Given the description of an element on the screen output the (x, y) to click on. 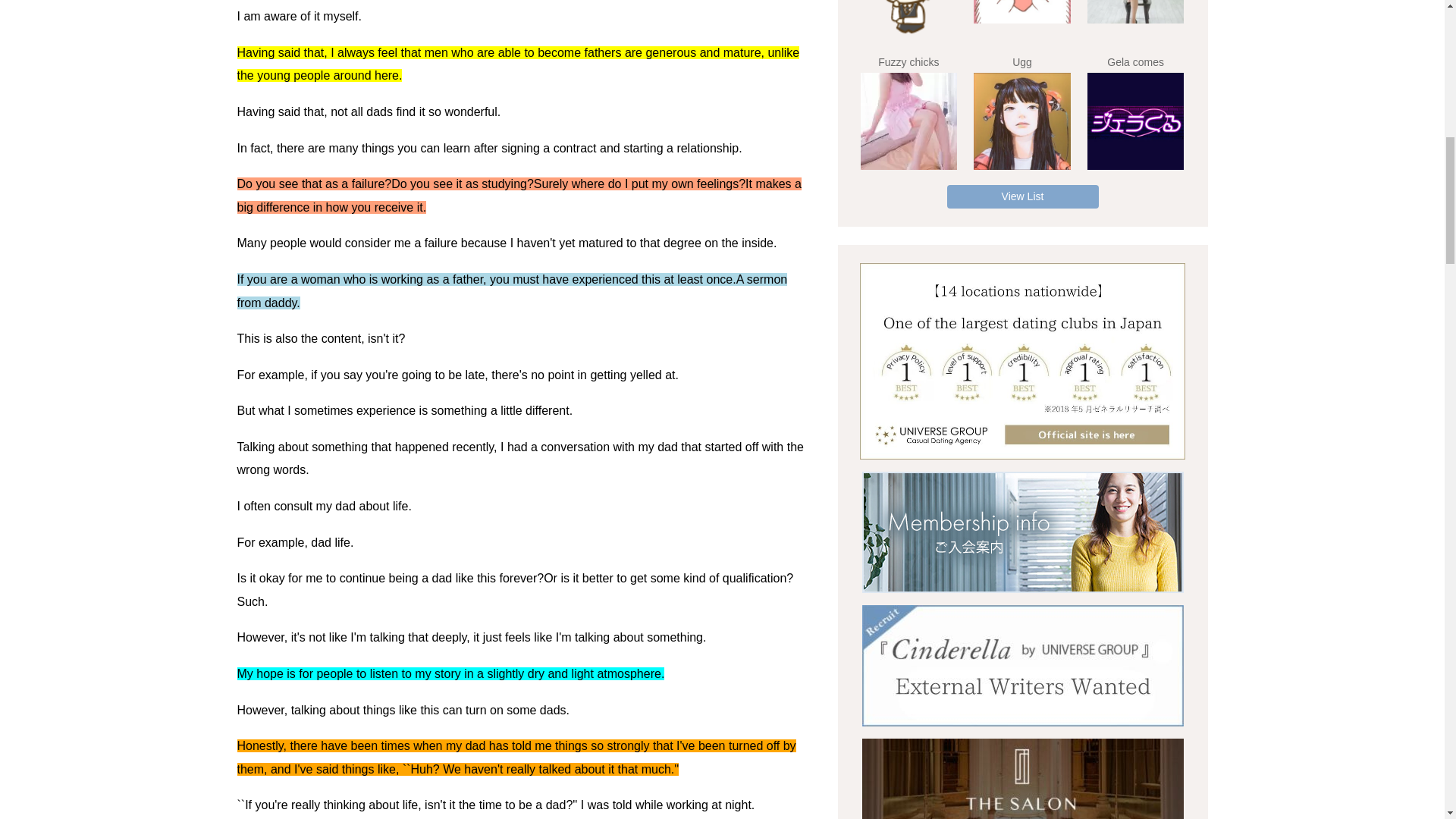
Fuzzy chicks (908, 120)
Miki Fujisaki (1136, 11)
Rinko (1022, 11)
Ugg (1022, 120)
Gela comes (1136, 120)
Love Hotel Staff Ueno (908, 19)
